Given the description of an element on the screen output the (x, y) to click on. 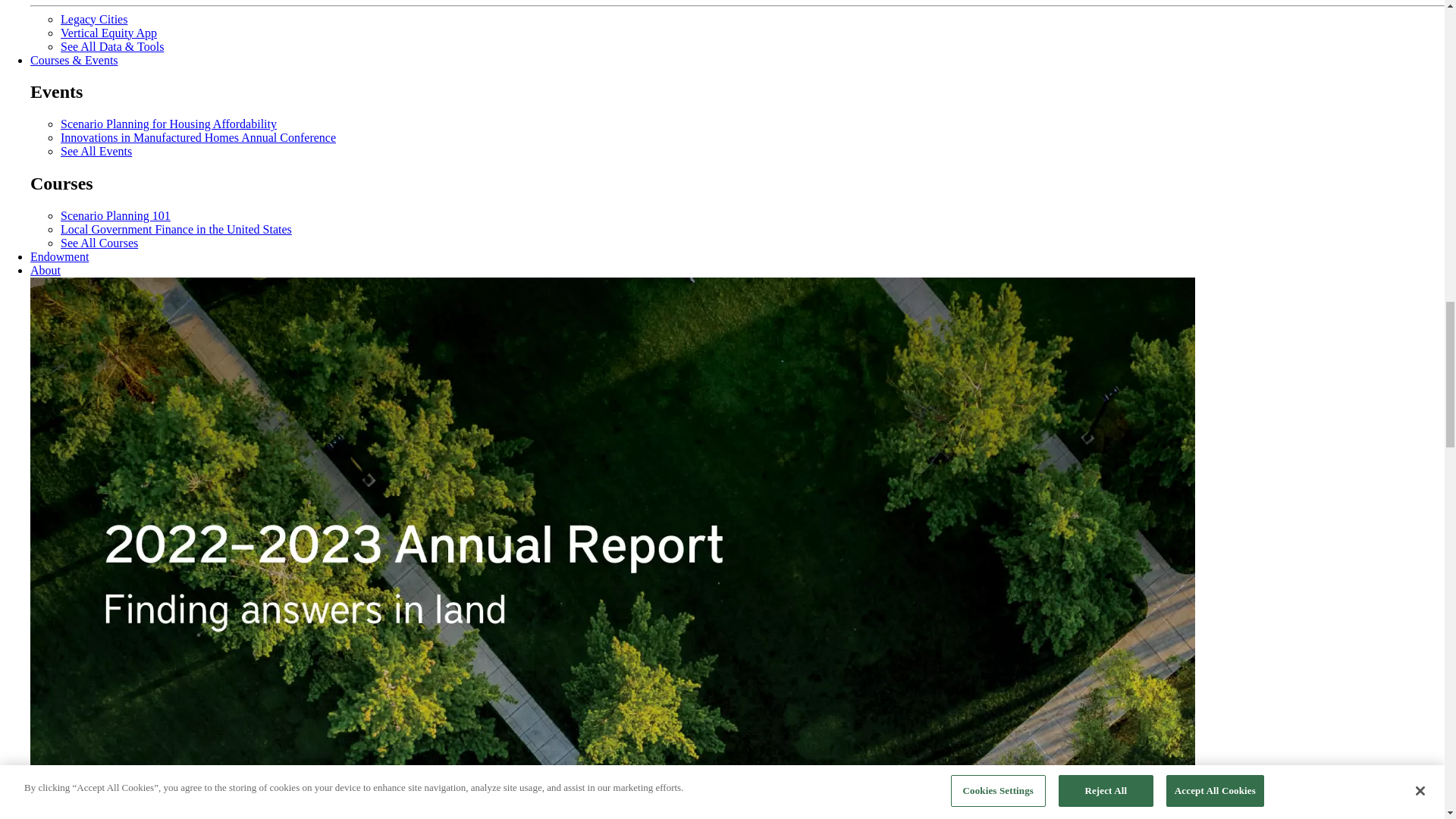
Legacy Cities (94, 18)
